Given the description of an element on the screen output the (x, y) to click on. 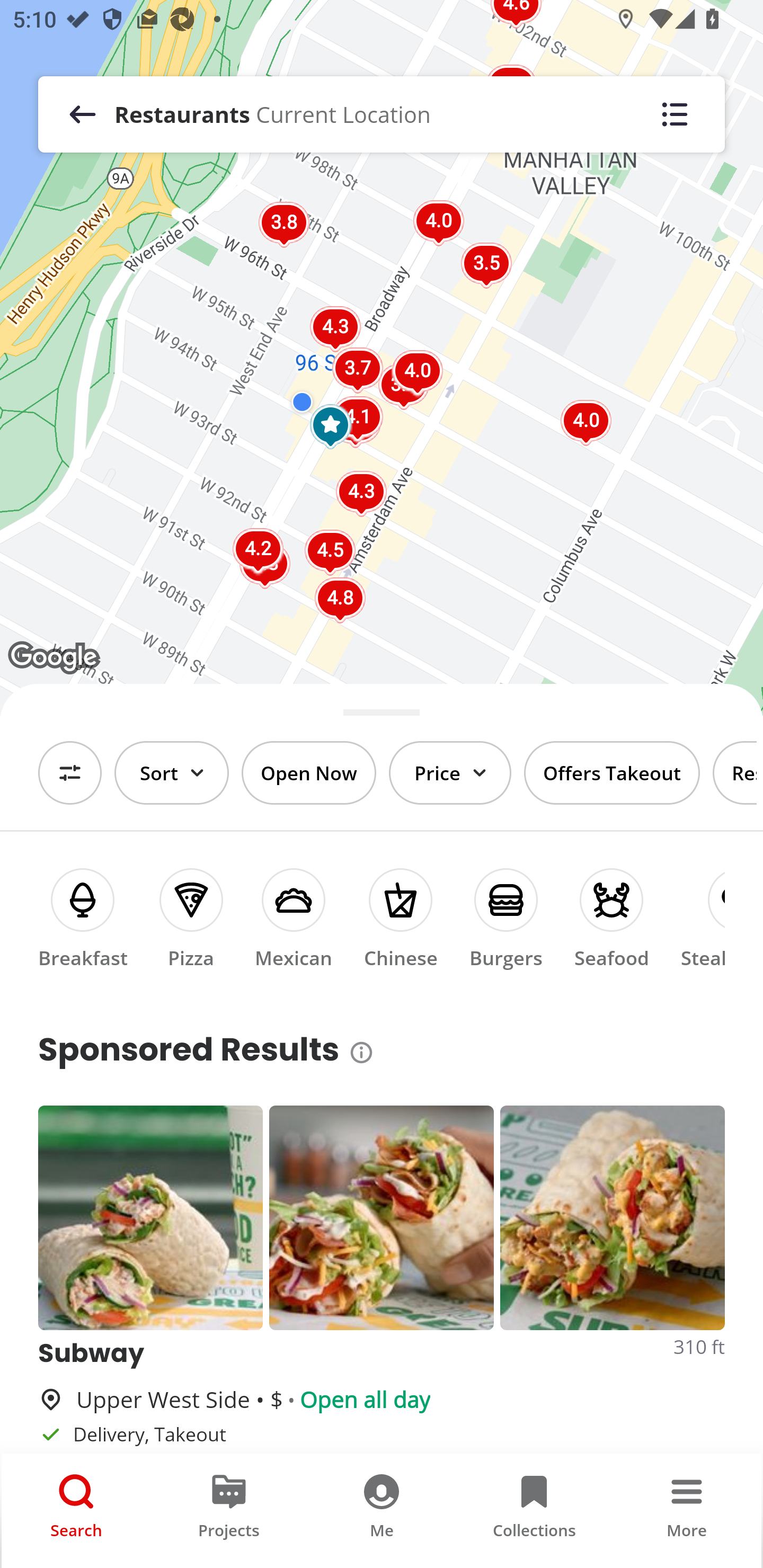
Sort (171, 772)
